Given the description of an element on the screen output the (x, y) to click on. 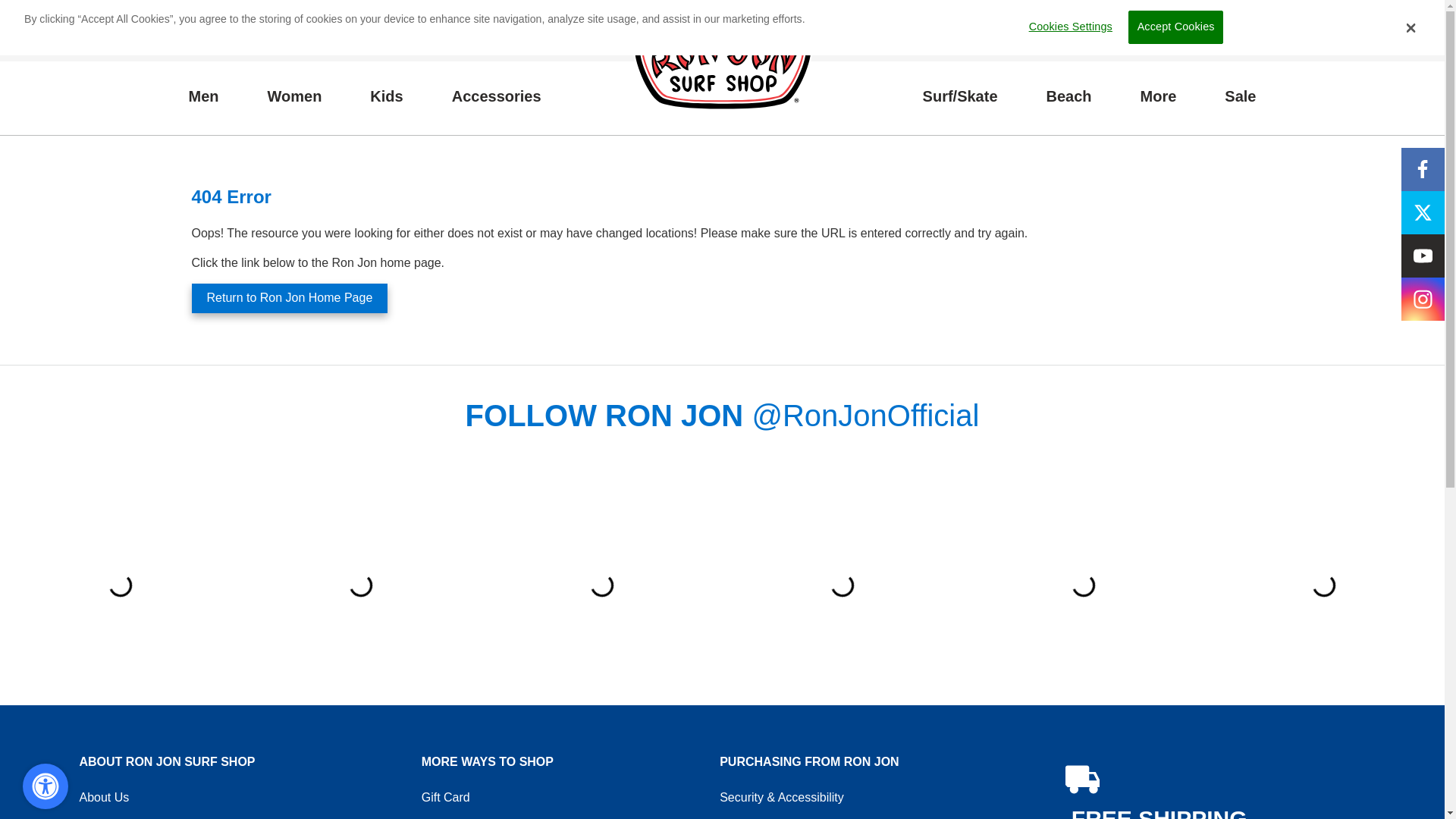
Open Preference Center Button (1066, 26)
Women (293, 96)
Ron Jon Homepage (721, 63)
Account (1322, 30)
Close (1158, 30)
Locations (1410, 28)
Men (1067, 30)
Accept Cookies Button (202, 96)
Search (1175, 26)
